Given the description of an element on the screen output the (x, y) to click on. 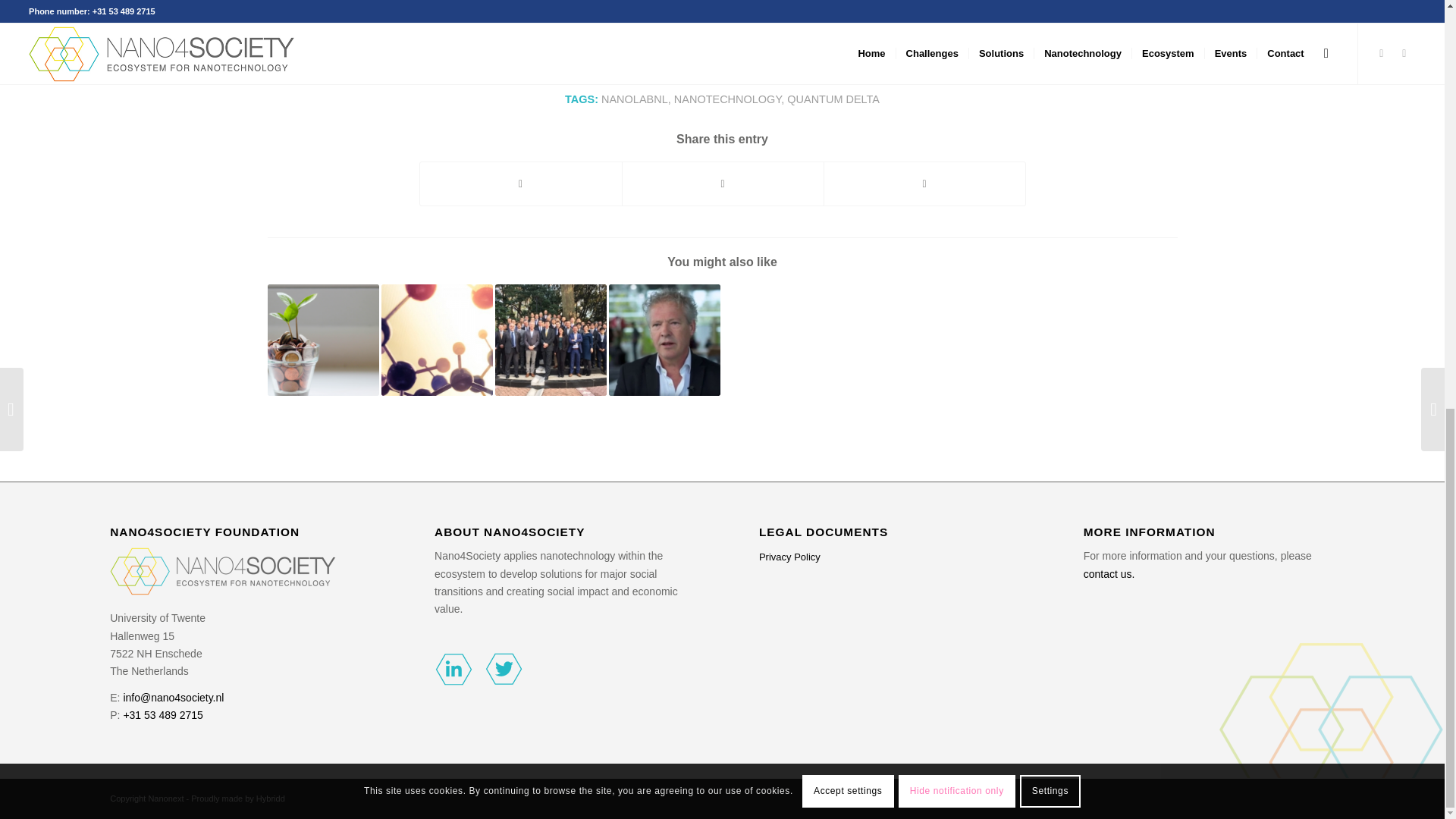
QUANTUM DELTA (833, 99)
Holland High Tech nanotechnology delegation visits Japan (550, 339)
NANOTECHNOLOGY (727, 99)
Download the manifesto (489, 3)
Quantum Delta NL SME programme (436, 339)
NANOLABNL (634, 99)
